Given the description of an element on the screen output the (x, y) to click on. 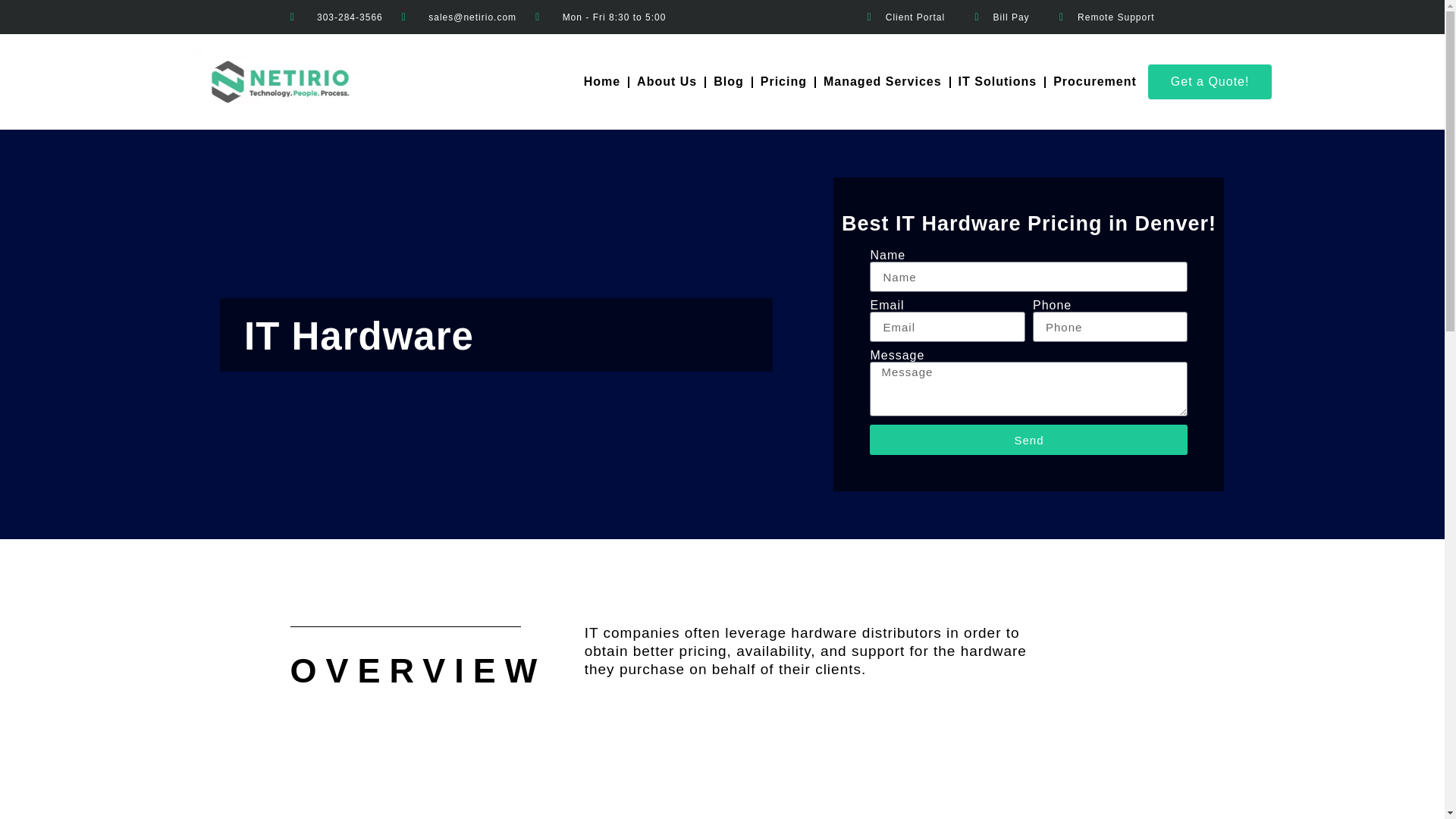
IT Solutions (997, 81)
Client Portal (901, 17)
303-284-3566 (335, 17)
Managed Services (882, 81)
Remote Support (1102, 17)
Procurement (1094, 81)
Blog (728, 81)
About Us (666, 81)
Home (601, 81)
Bill Pay (997, 17)
Pricing (782, 81)
